Given the description of an element on the screen output the (x, y) to click on. 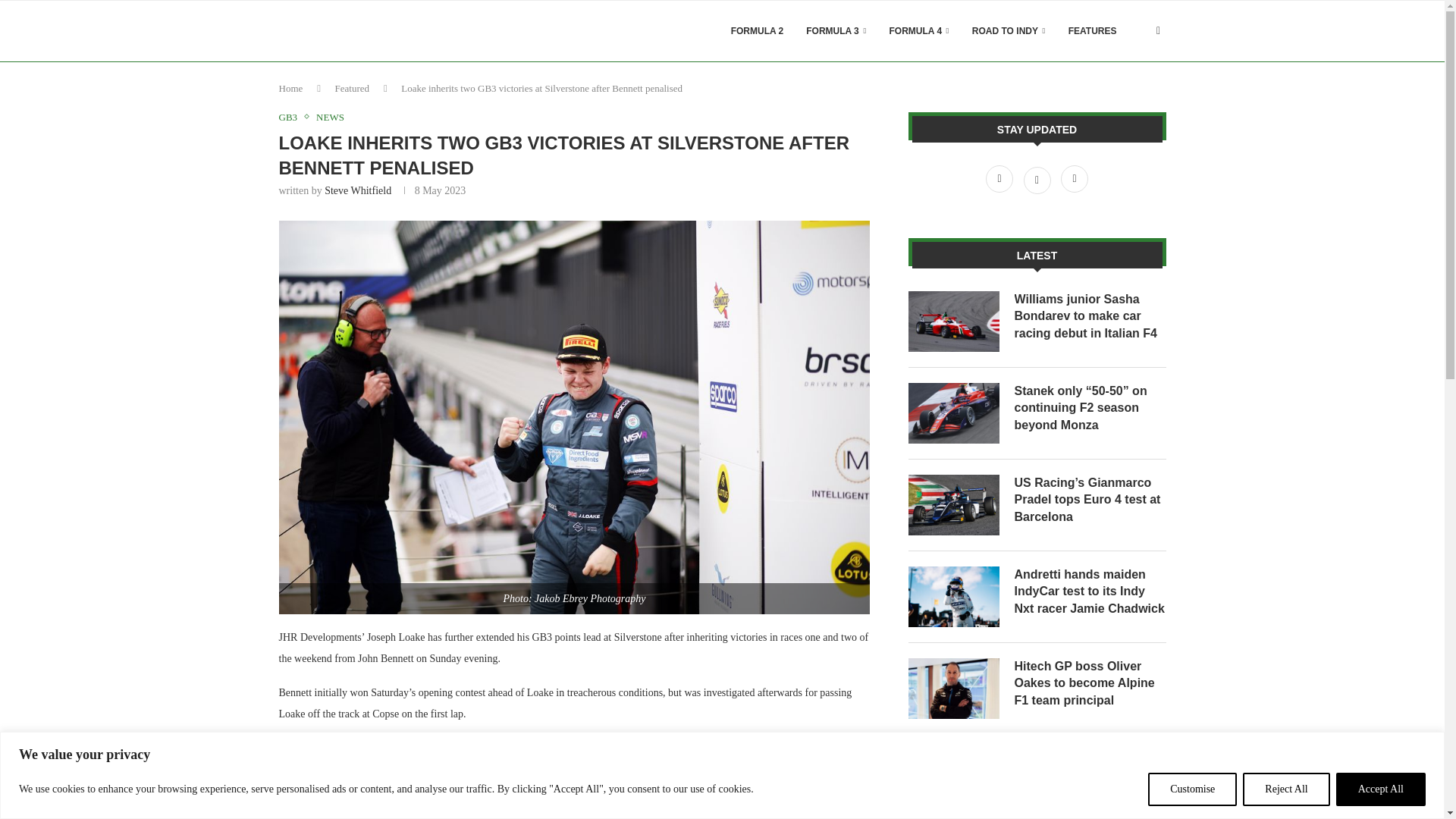
FORMULA 3 (836, 30)
Steve Whitfield (357, 190)
Accept All (1380, 788)
FORMULA 4 (919, 30)
Customise (1192, 788)
Home (290, 88)
ROAD TO INDY (1008, 30)
Featured (351, 88)
Reject All (1286, 788)
NEWS (329, 117)
